Given the description of an element on the screen output the (x, y) to click on. 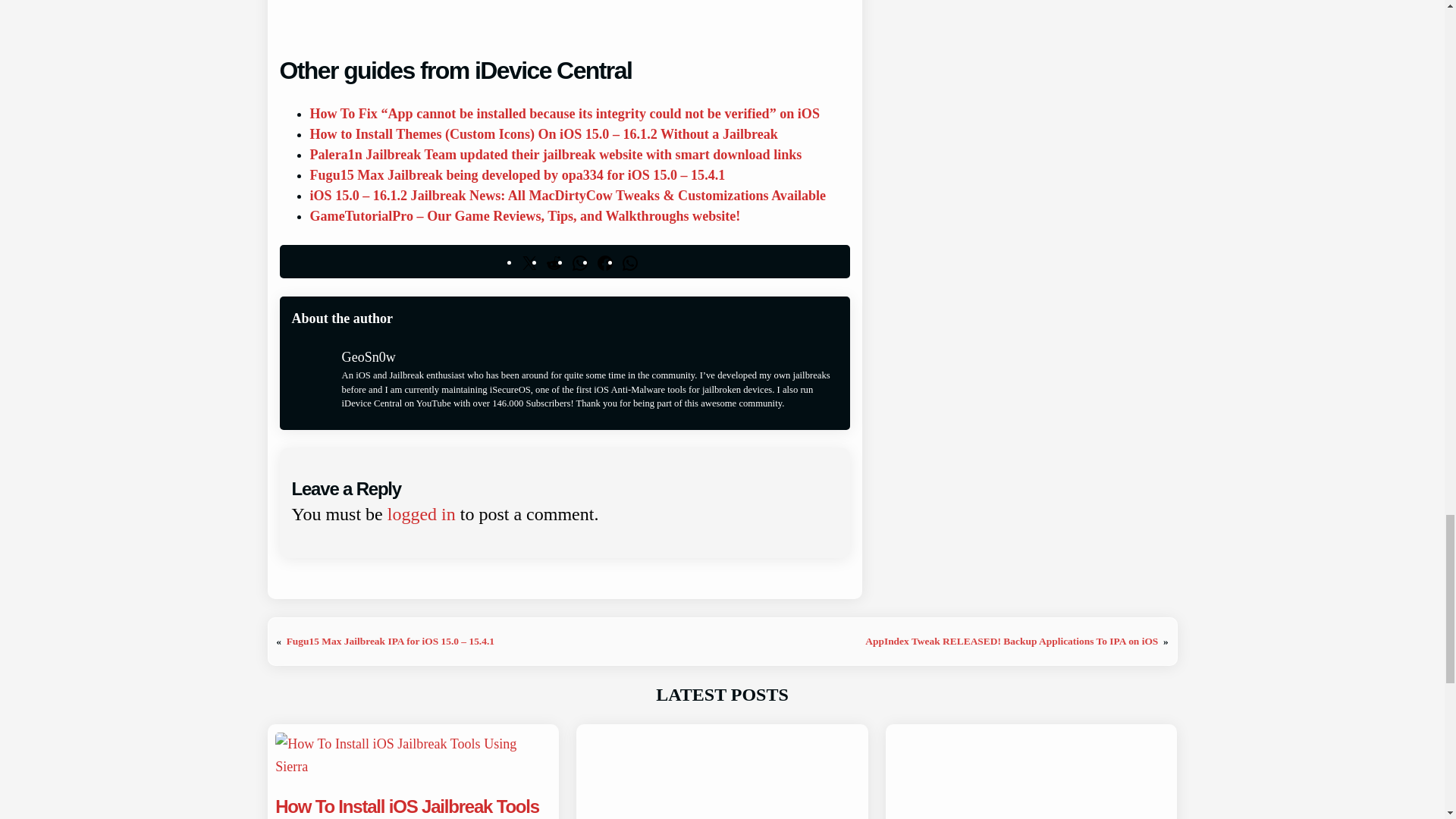
Share on WhatsApp (579, 261)
GeoSn0w (369, 356)
logged in (421, 514)
Share on WhatsApp (630, 261)
Share on Facebook (604, 261)
Share on X (528, 261)
Share on Reddit (553, 261)
